Given the description of an element on the screen output the (x, y) to click on. 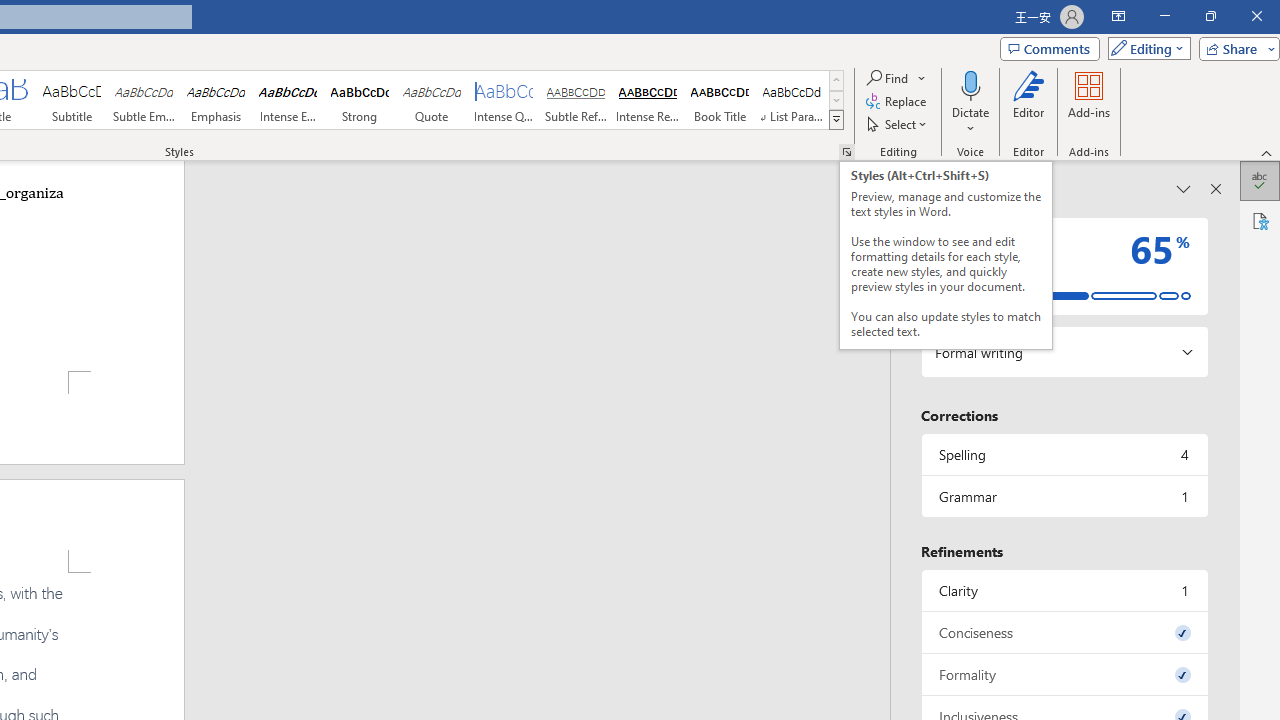
Intense Emphasis (287, 100)
Grammar, 1 issue. Press space or enter to review items. (1064, 495)
Intense Quote (504, 100)
Share (1235, 48)
Row Down (836, 100)
Editor Score 65% (1064, 266)
Accessibility (1260, 220)
Find (888, 78)
Restore Down (1210, 16)
Intense Reference (647, 100)
Spelling, 4 issues. Press space or enter to review items. (1064, 454)
Clarity, 1 issue. Press space or enter to review items. (1064, 590)
Replace... (897, 101)
